Given the description of an element on the screen output the (x, y) to click on. 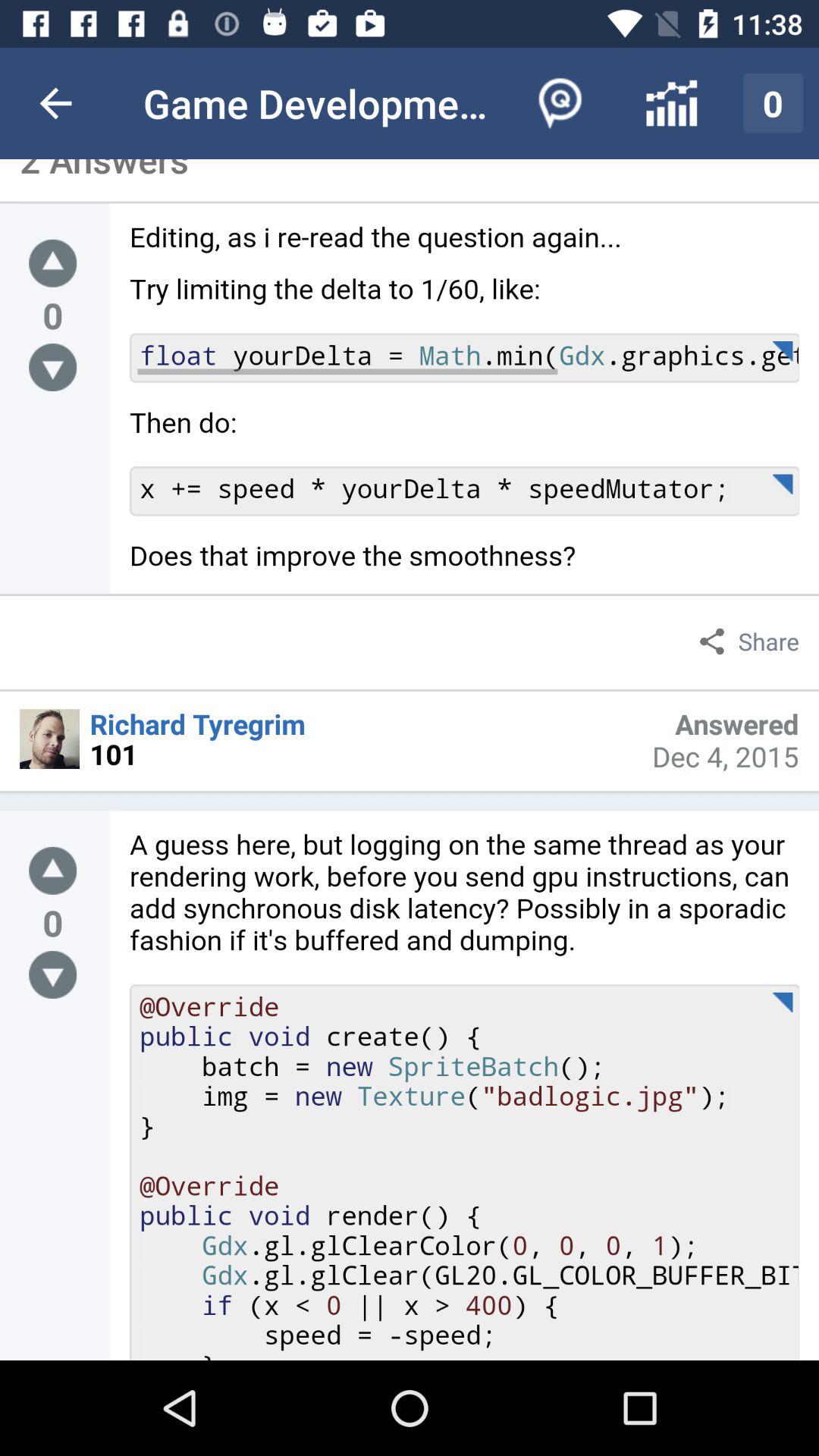
upload audio or video (52, 263)
